Given the description of an element on the screen output the (x, y) to click on. 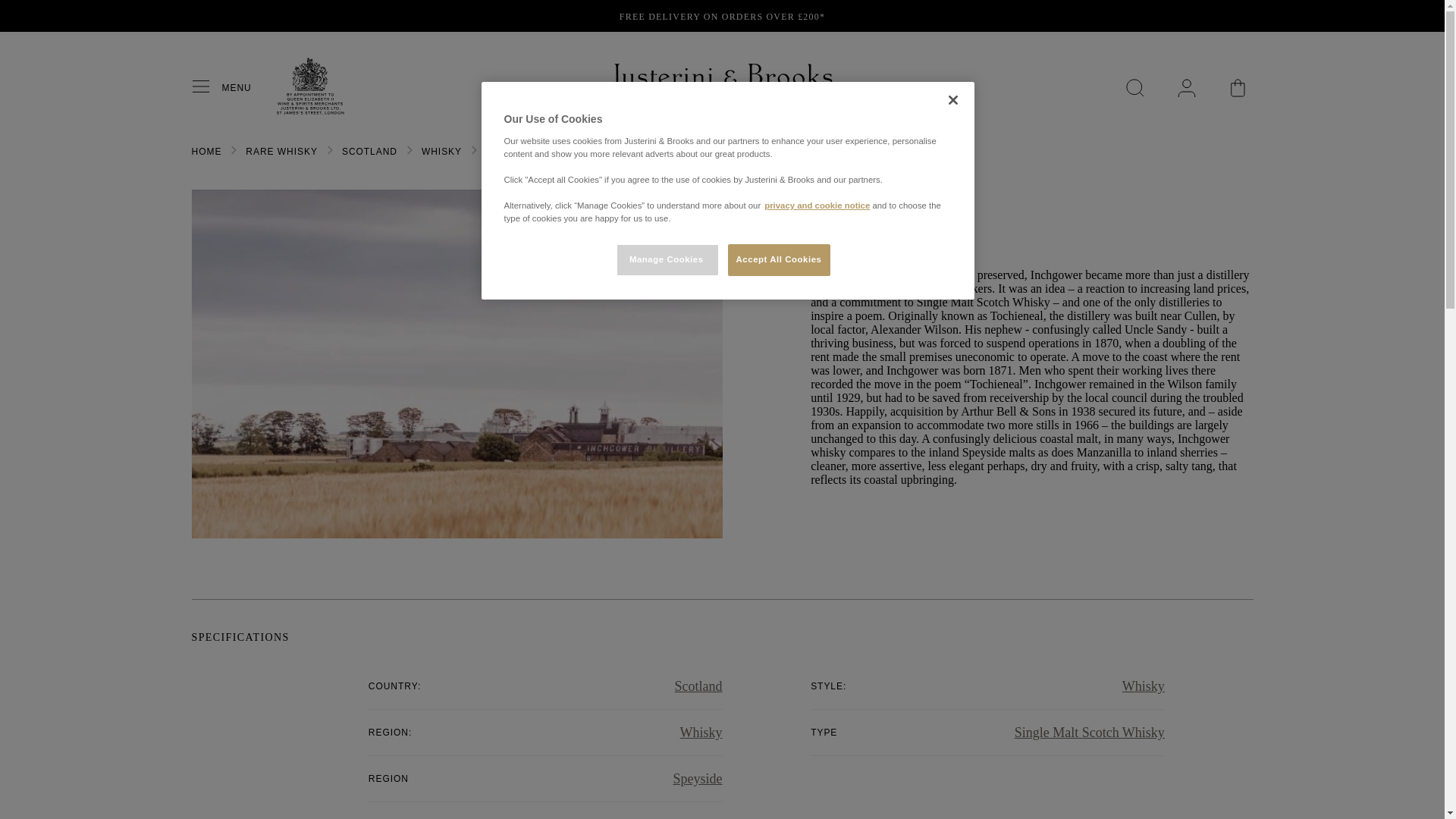
JB Logo (721, 87)
Royal Warrant Logo (309, 110)
Your Bag (1237, 87)
Your Personal Cellar (1185, 87)
Chevron Right (233, 150)
Chevron Right (329, 150)
Chevron Right (408, 150)
Search (1133, 87)
Menu (205, 87)
Chevron Right (473, 150)
